Given the description of an element on the screen output the (x, y) to click on. 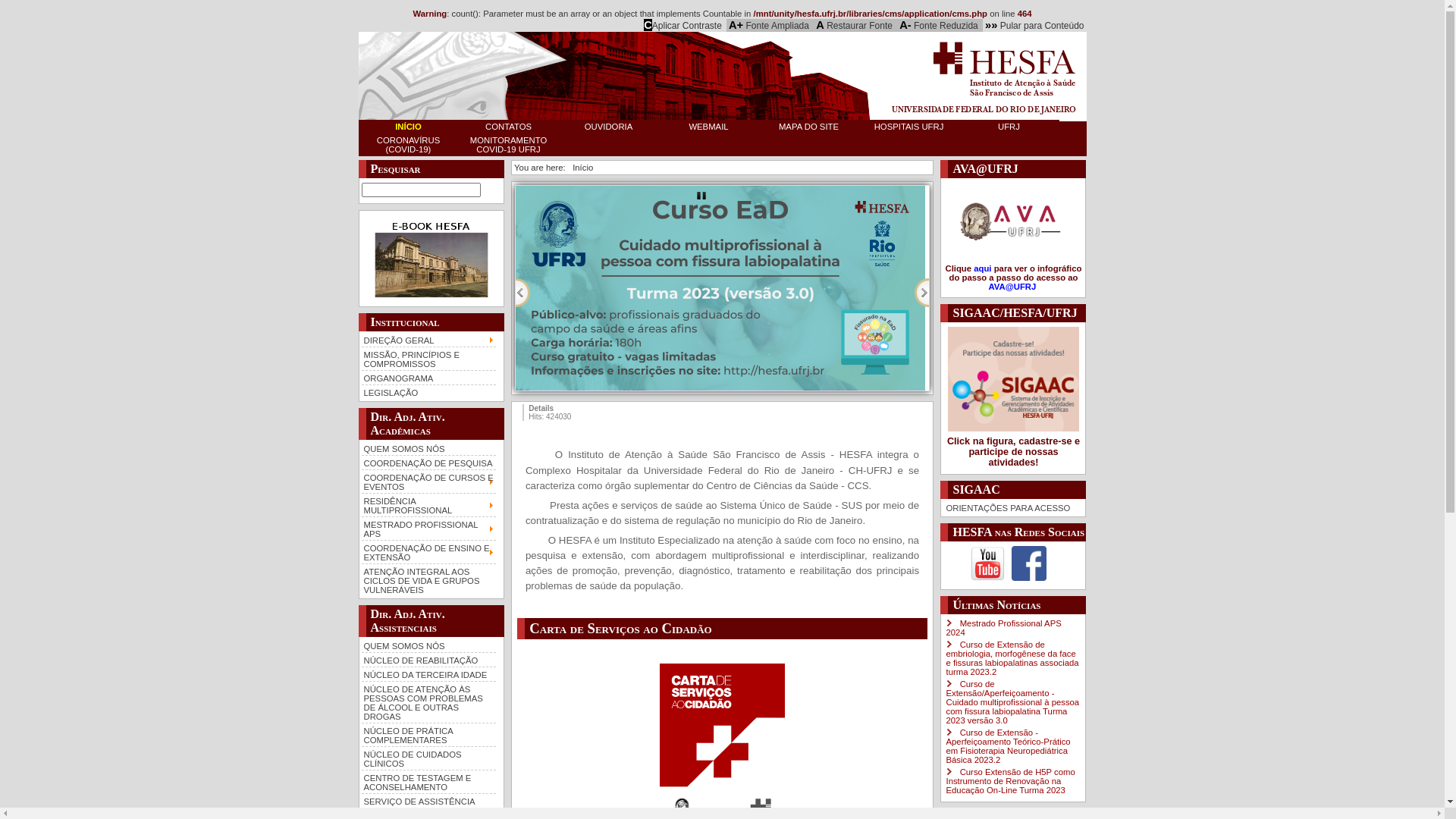
MAPA DO SITE Element type: text (808, 126)
CONTATOS Element type: text (508, 126)
CENTRO DE TESTAGEM E ACONSELHAMENTO Element type: text (427, 781)
A+ Fonte Ampliada Element type: text (768, 24)
MONITORAMENTO COVID-19 UFRJ Element type: text (508, 144)
Next Element type: text (921, 291)
CAplicar Contraste Element type: text (682, 24)
MESTRADO PROFISSIONAL APS Element type: text (427, 527)
UFRJ Element type: text (1008, 126)
Previous Element type: text (522, 291)
A- Fonte Reduzida Element type: text (938, 24)
Mestrado Profissional APS 2024 Element type: text (1002, 627)
ORGANOGRAMA Element type: text (427, 377)
A Restaurar Fonte Element type: text (853, 24)
HOSPITAIS UFRJ Element type: text (908, 126)
aqui Element type: text (982, 268)
WEBMAIL Element type: text (708, 126)
OUVIDORIA Element type: text (608, 126)
AVA@UFRJ  Element type: text (1013, 286)
